Given the description of an element on the screen output the (x, y) to click on. 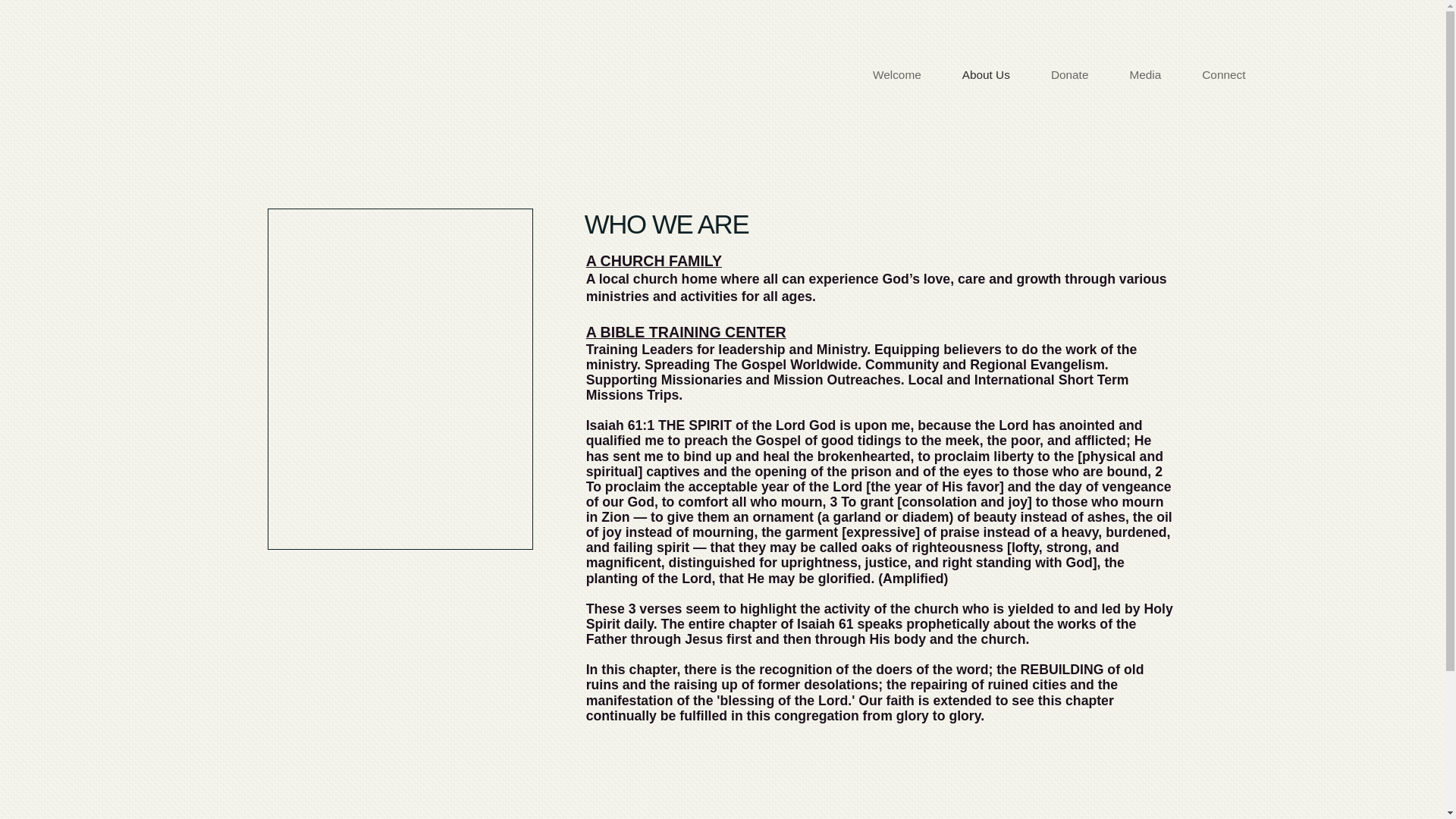
Connect (1222, 74)
About Us (986, 74)
Donate (1069, 74)
Welcome (896, 74)
Media (1144, 74)
